Given the description of an element on the screen output the (x, y) to click on. 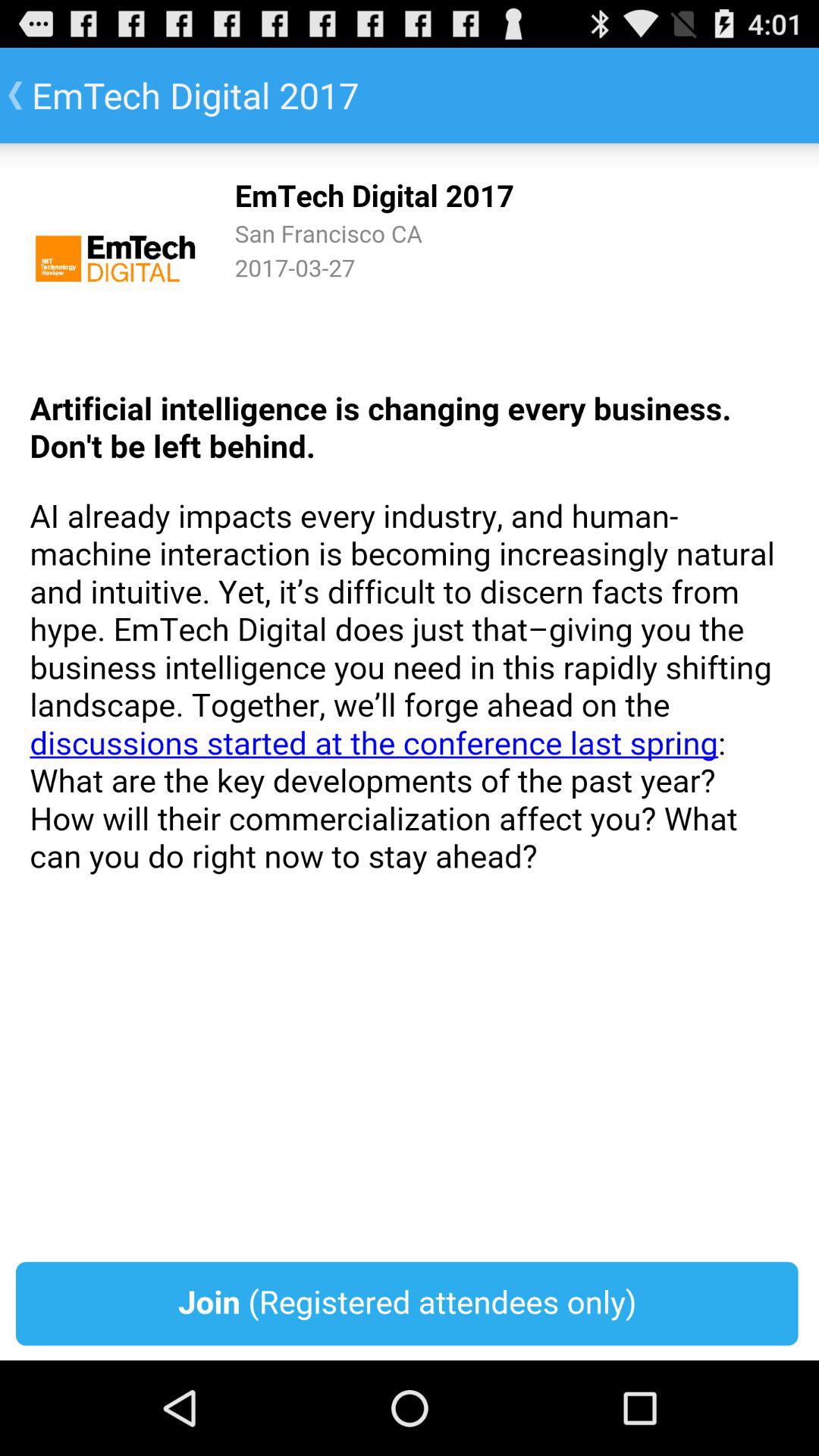
select join (409, 751)
